Given the description of an element on the screen output the (x, y) to click on. 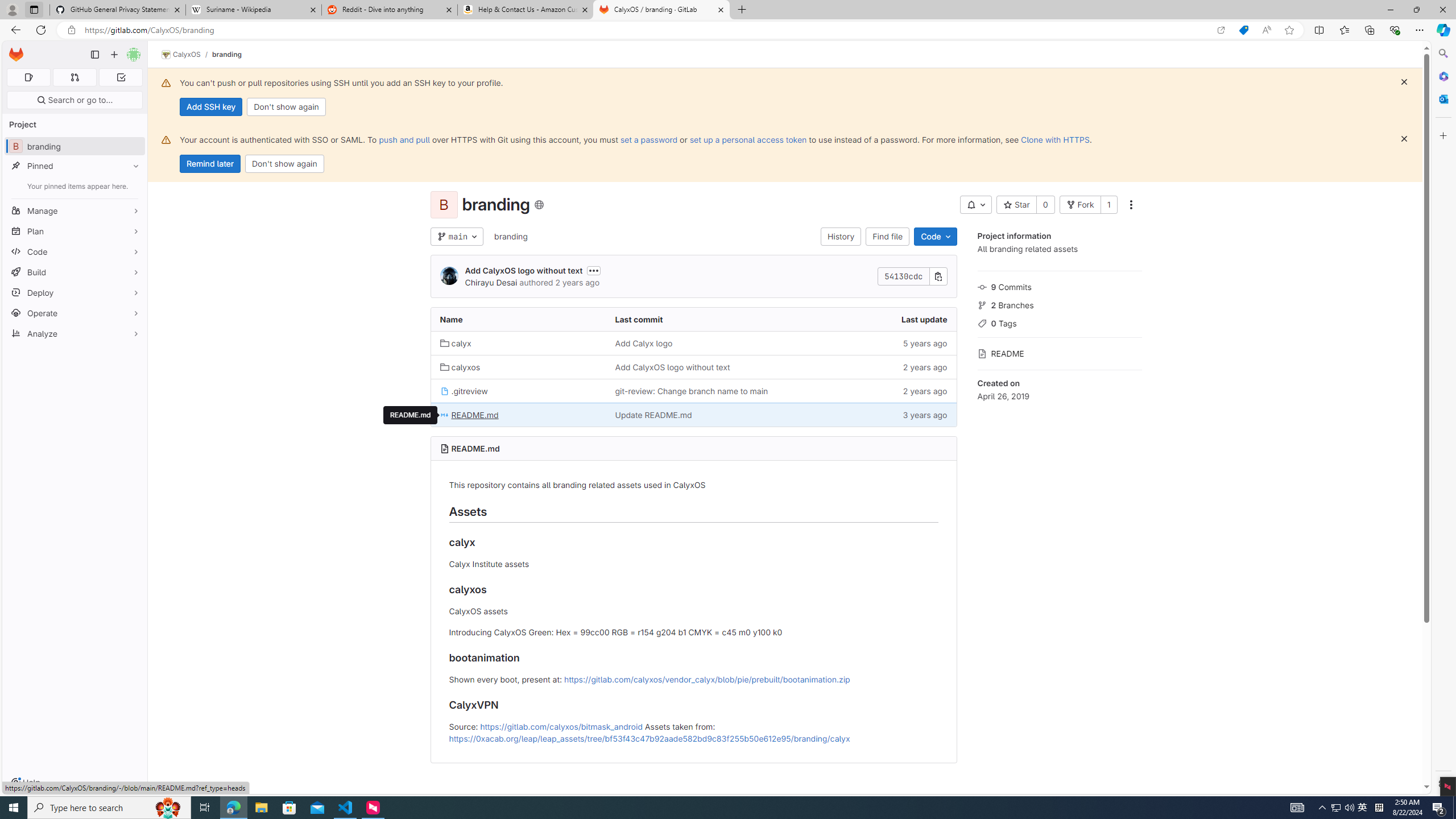
Chirayu Desai's avatar (448, 275)
Build (74, 271)
Primary navigation sidebar (94, 54)
3 years ago (868, 414)
Fork (1079, 204)
Dismiss (1403, 138)
Class: s16 icon gl-mr-3 gl-text-gray-500 (981, 353)
Code (74, 251)
